Given the description of an element on the screen output the (x, y) to click on. 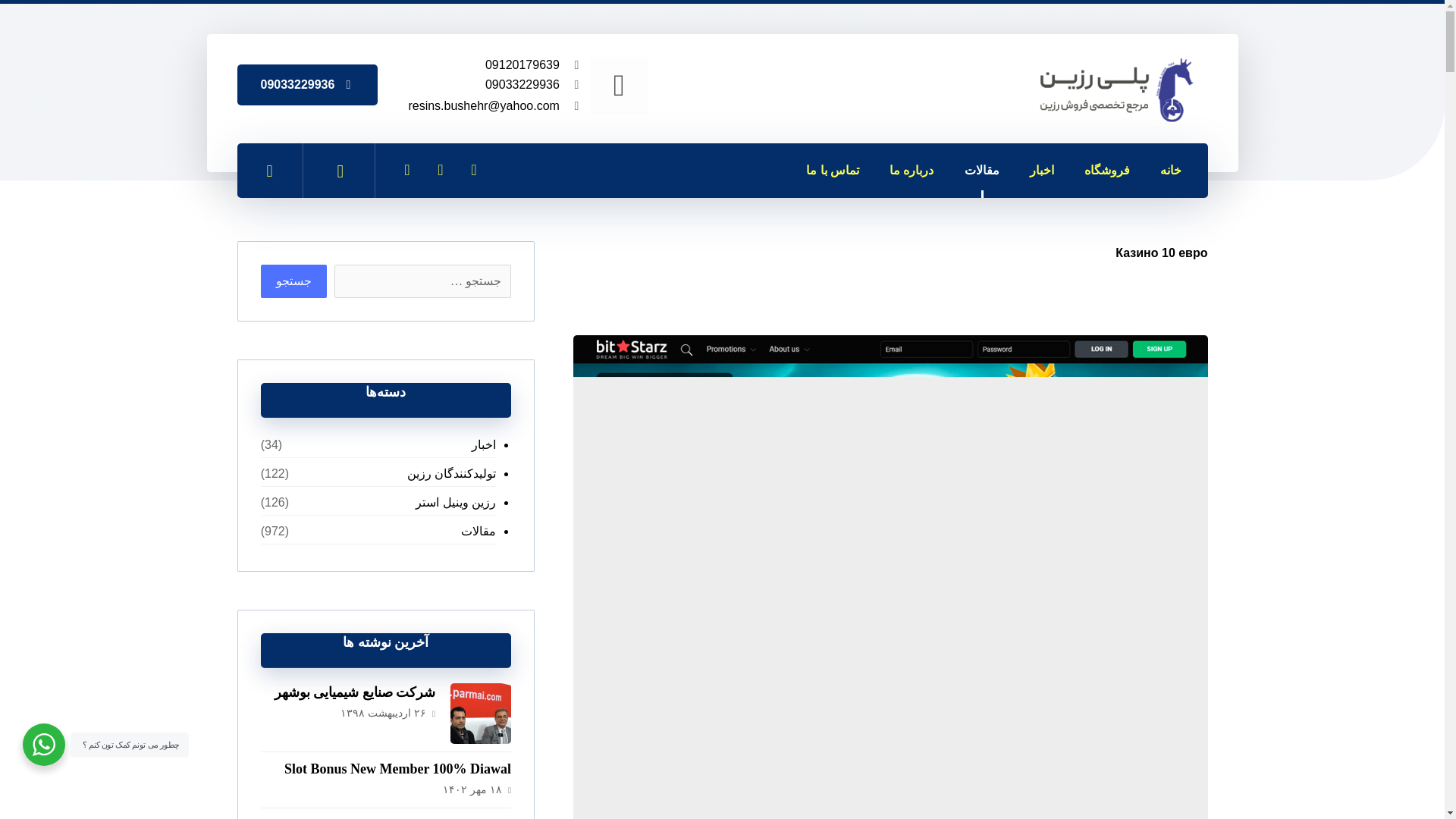
09033229936 (521, 83)
09033229936 (307, 84)
09120179639 (521, 64)
